Given the description of an element on the screen output the (x, y) to click on. 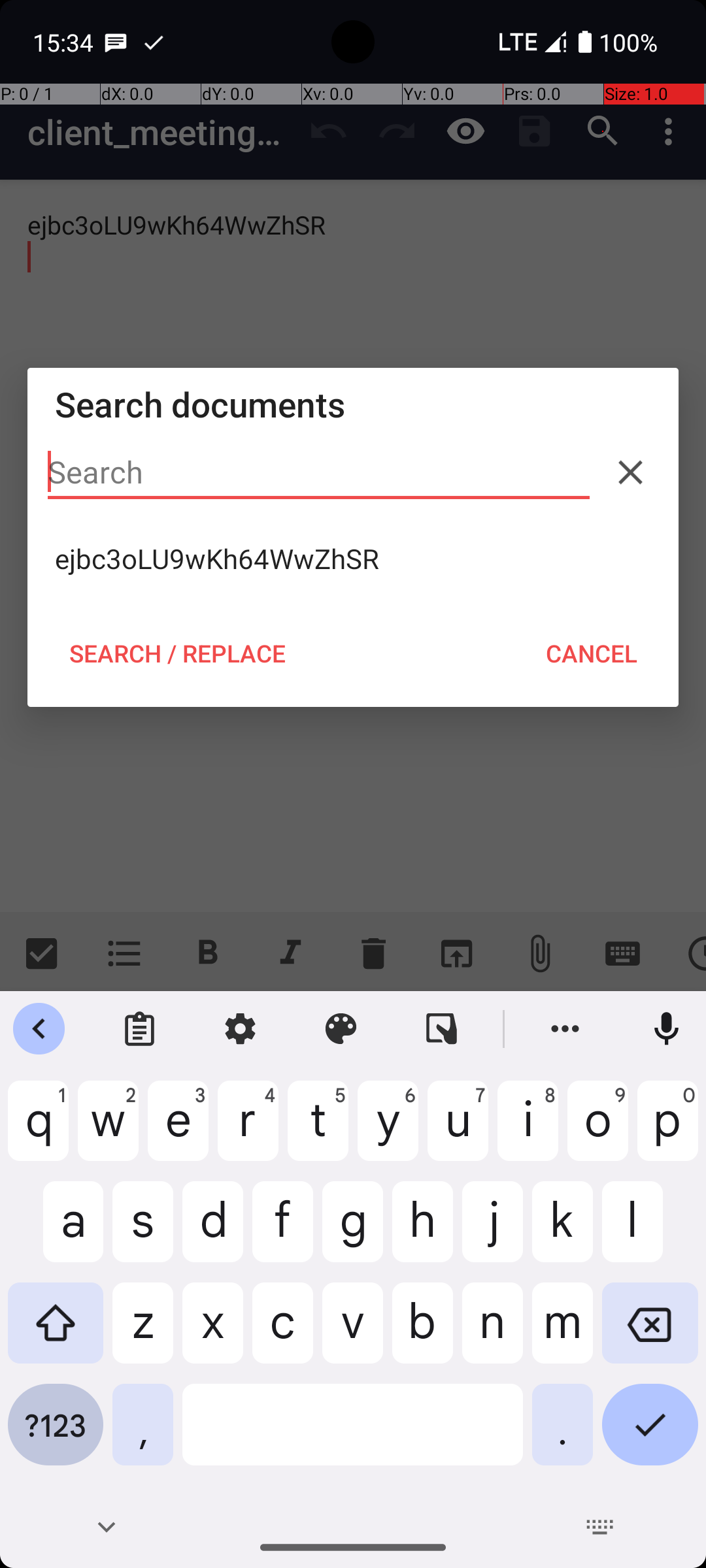
ejbc3oLU9wKh64WwZhSR Element type: android.widget.TextView (352, 558)
